Given the description of an element on the screen output the (x, y) to click on. 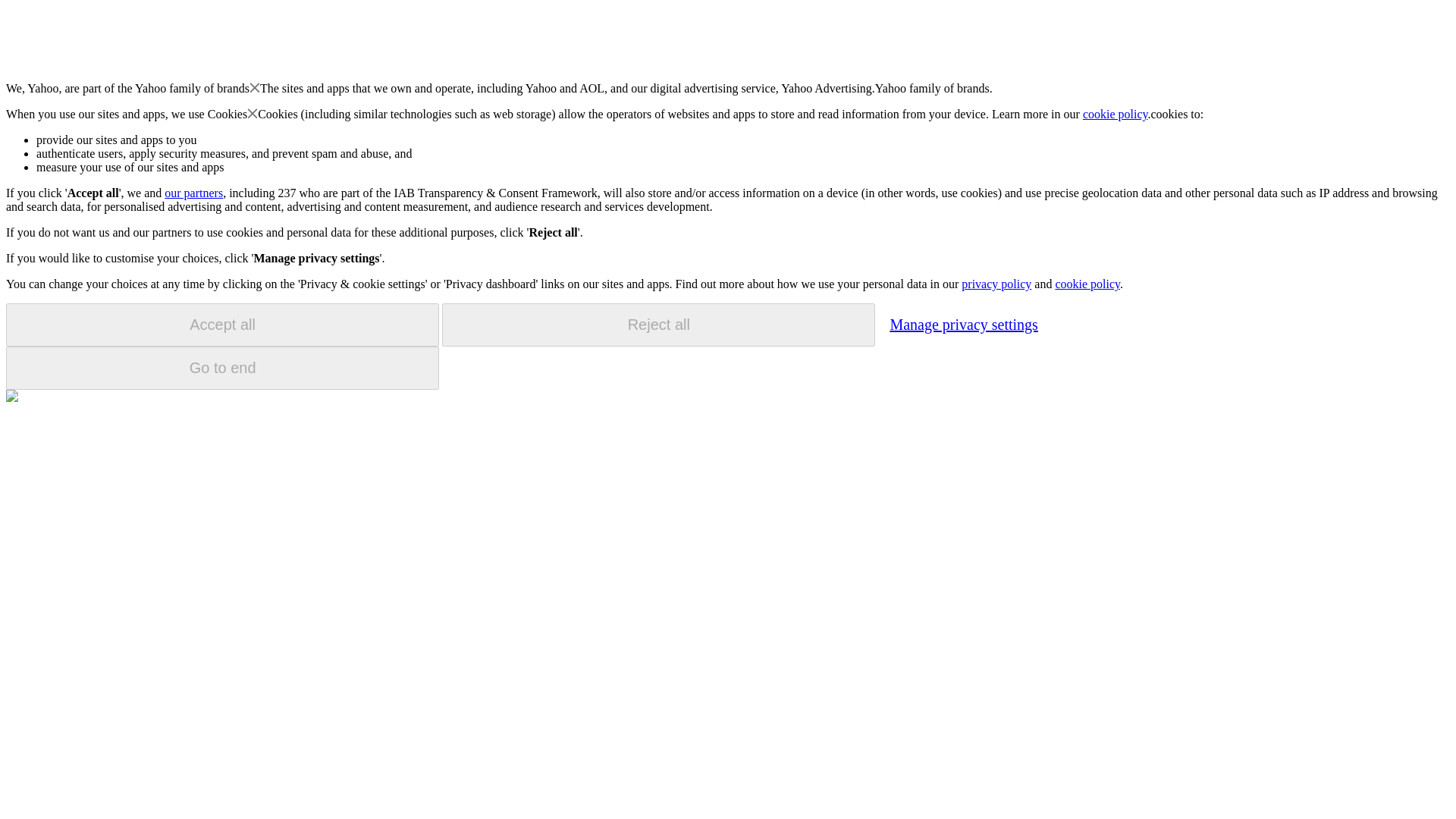
Go to end (222, 367)
privacy policy (995, 283)
our partners (193, 192)
cookie policy (1086, 283)
Accept all (222, 324)
Reject all (658, 324)
Manage privacy settings (963, 323)
cookie policy (1115, 113)
